Given the description of an element on the screen output the (x, y) to click on. 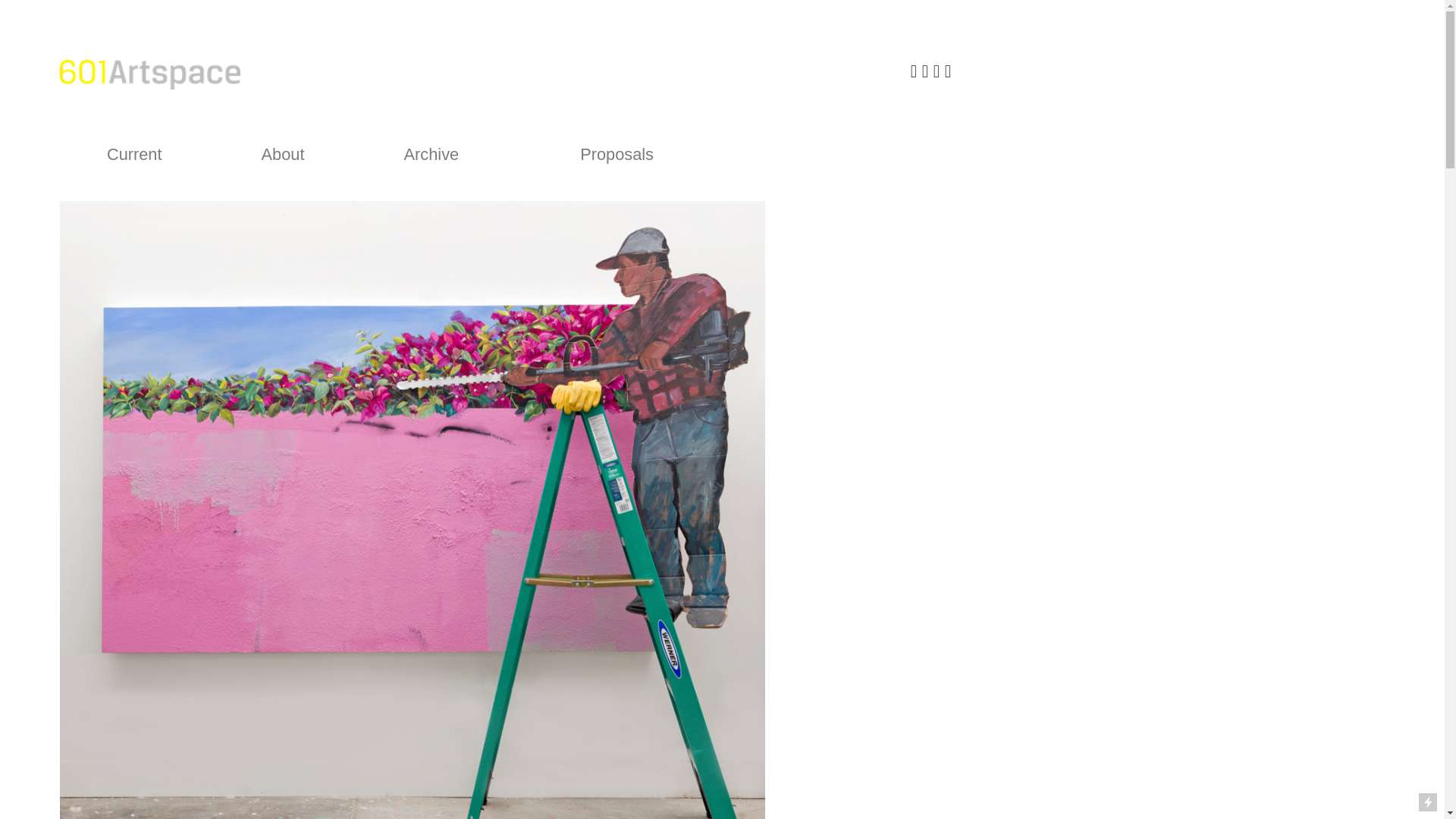
Proposals (616, 154)
Current (133, 154)
Archive (432, 154)
About (283, 154)
